Given the description of an element on the screen output the (x, y) to click on. 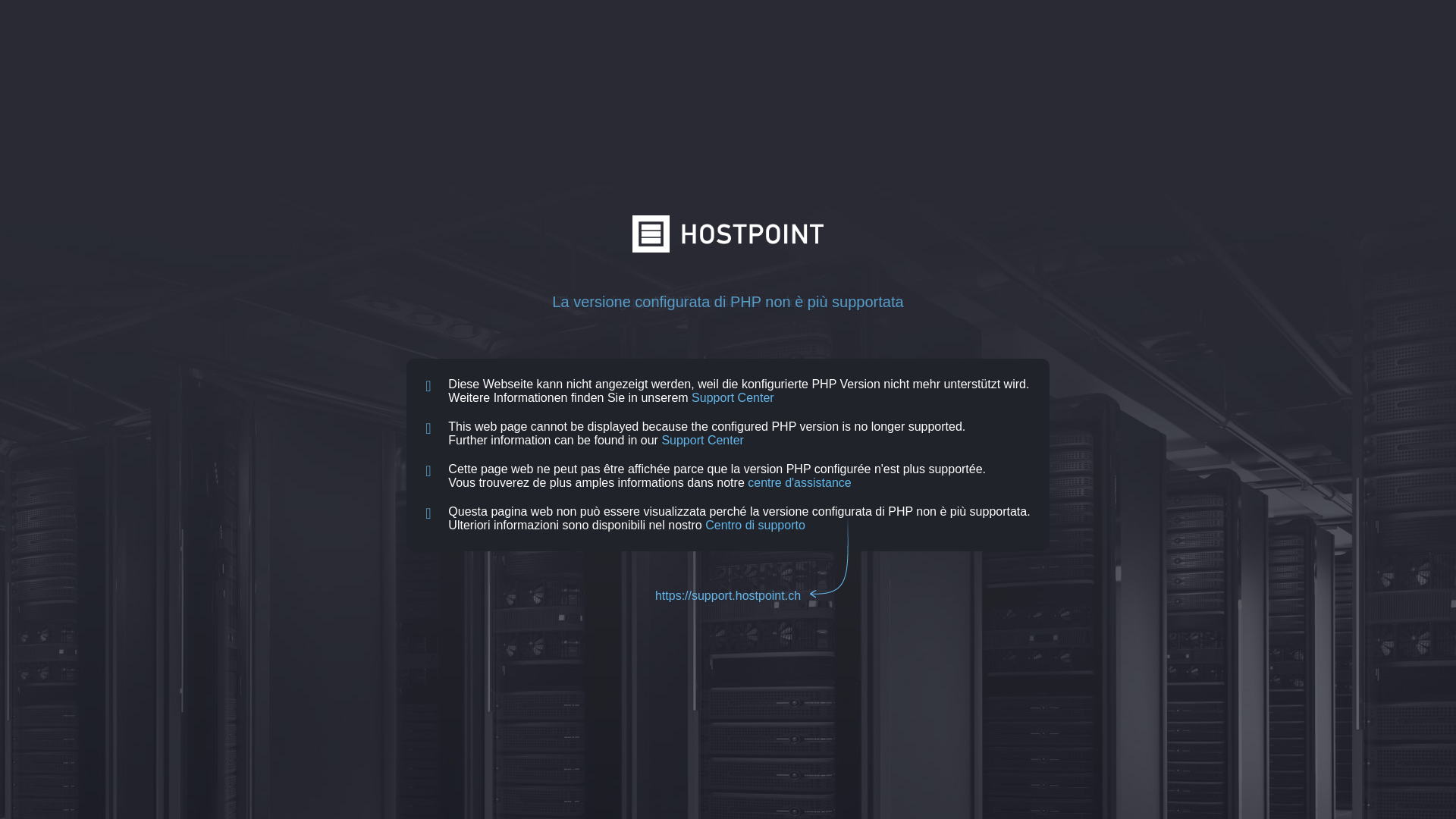
Support Center Element type: text (732, 397)
Support Center Element type: text (702, 439)
centre d'assistance Element type: text (798, 482)
https://support.hostpoint.ch Element type: text (727, 595)
Centro di supporto Element type: text (755, 524)
